Given the description of an element on the screen output the (x, y) to click on. 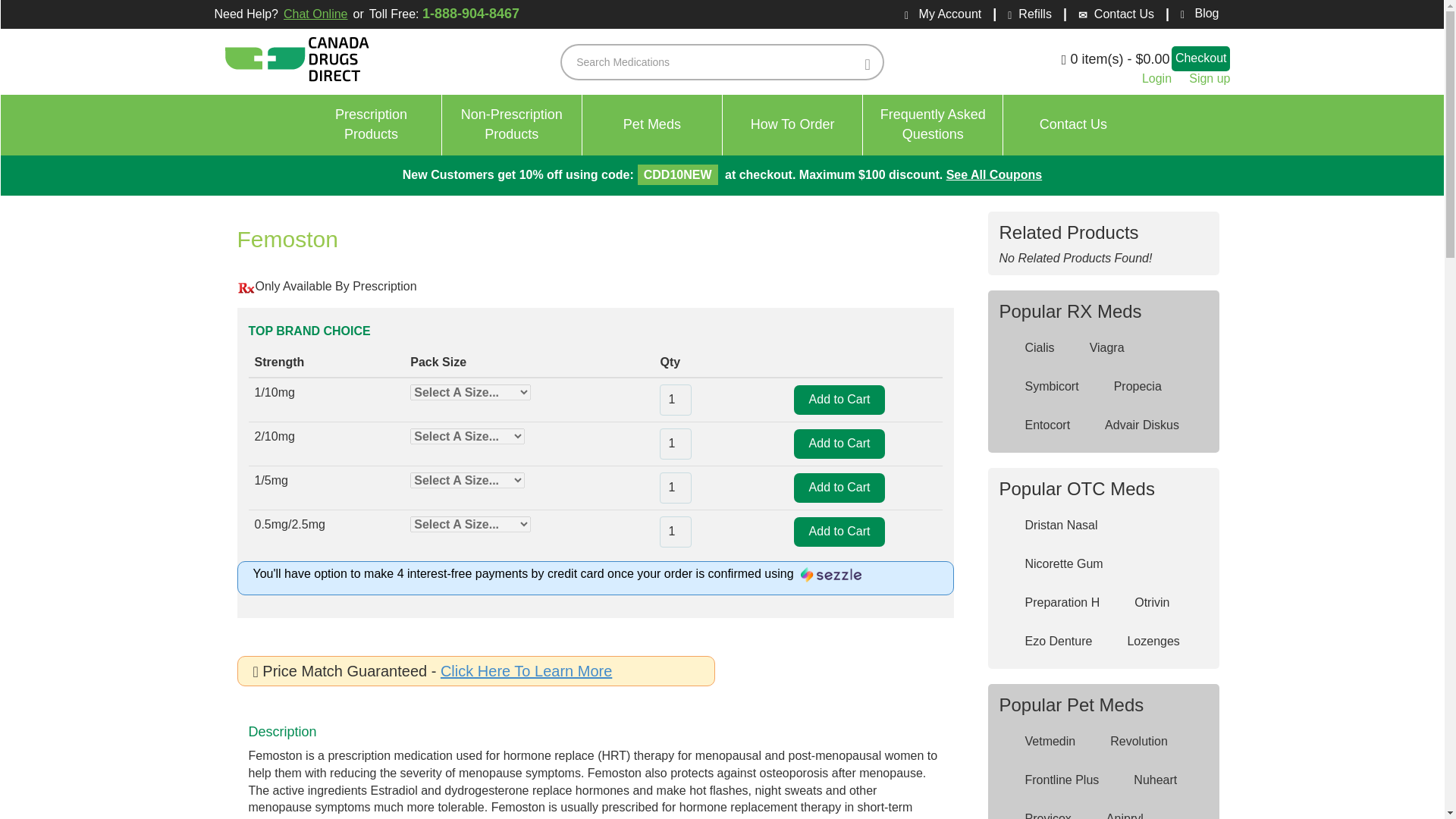
Propecia (1126, 387)
Add to Cart (839, 443)
Pet Meds (652, 125)
Symbicort (1041, 387)
   Blog (1193, 13)
Viagra (1095, 348)
1 (675, 531)
Entocort (1037, 425)
Dristan Nasal (1050, 525)
Add to Cart (839, 531)
